Given the description of an element on the screen output the (x, y) to click on. 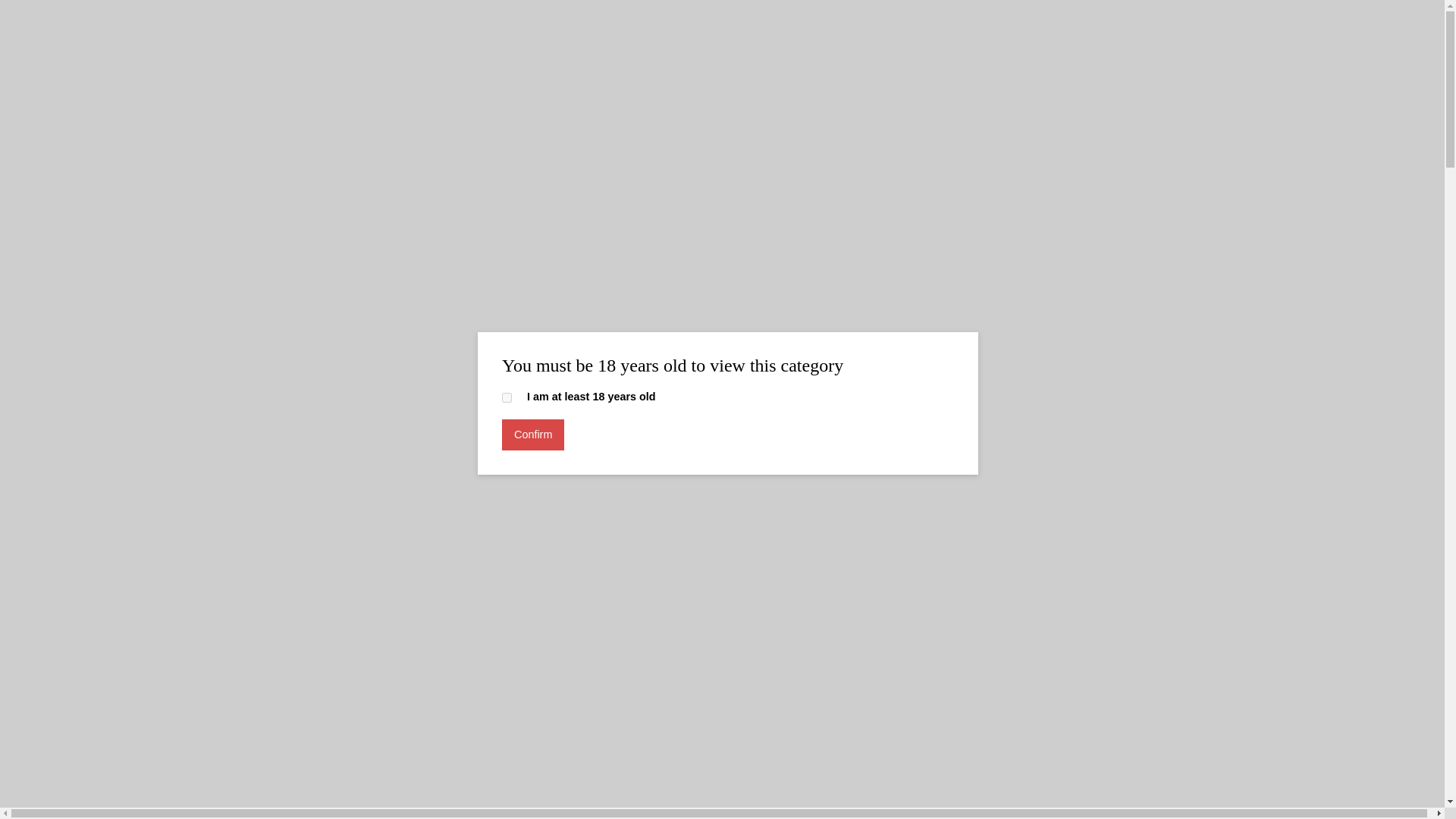
Home (299, 393)
youtube (327, 139)
twitter (360, 139)
Brand News (368, 393)
3rd party ad content (722, 290)
instagram (293, 139)
LinkedIn (260, 139)
facebook (393, 139)
